Given the description of an element on the screen output the (x, y) to click on. 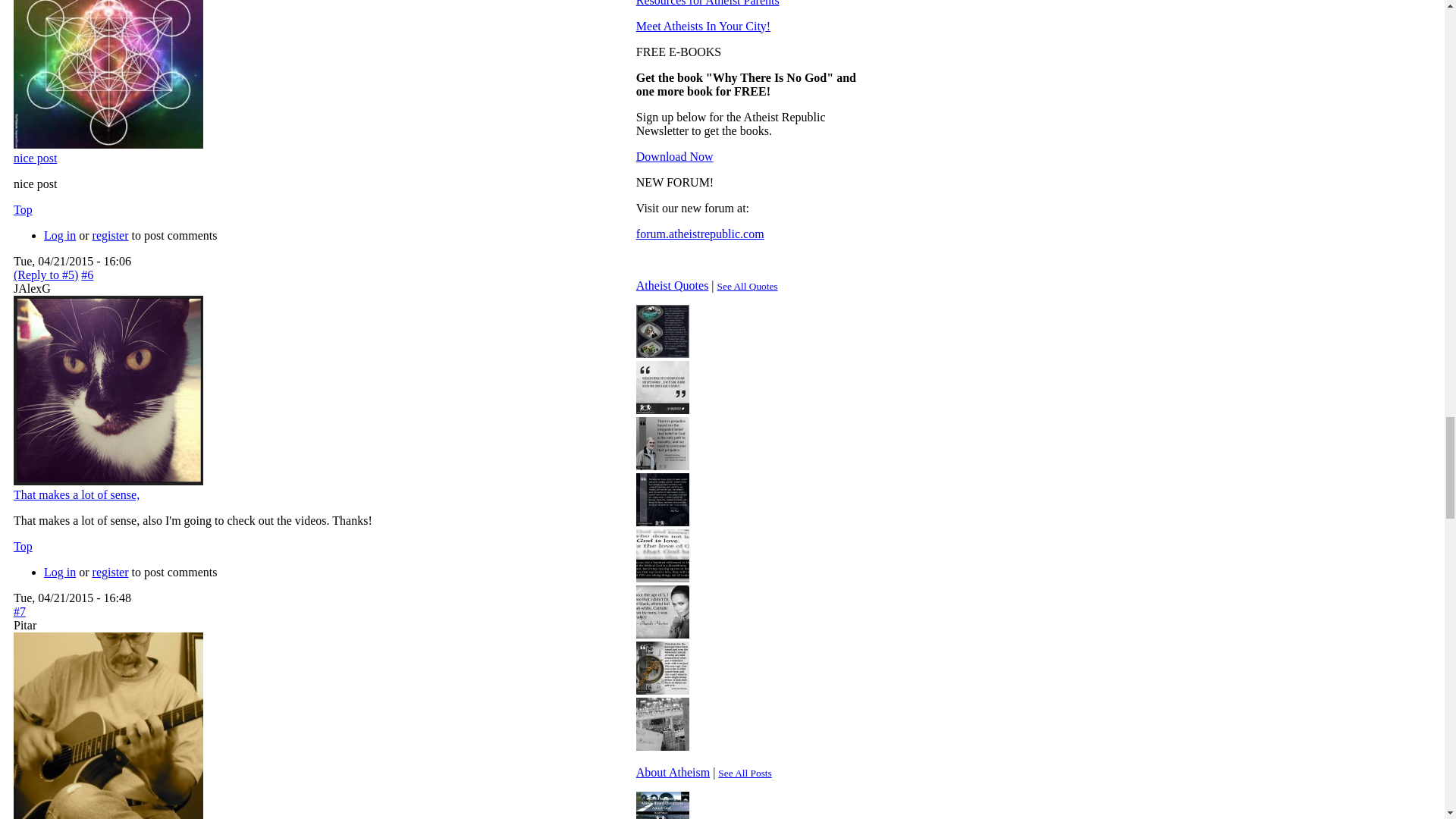
Jeff Vella Leone's picture (108, 74)
Jump to top of page (22, 545)
Pitar's picture (108, 725)
Jump to top of page (22, 209)
JAlexG's picture (108, 390)
